Given the description of an element on the screen output the (x, y) to click on. 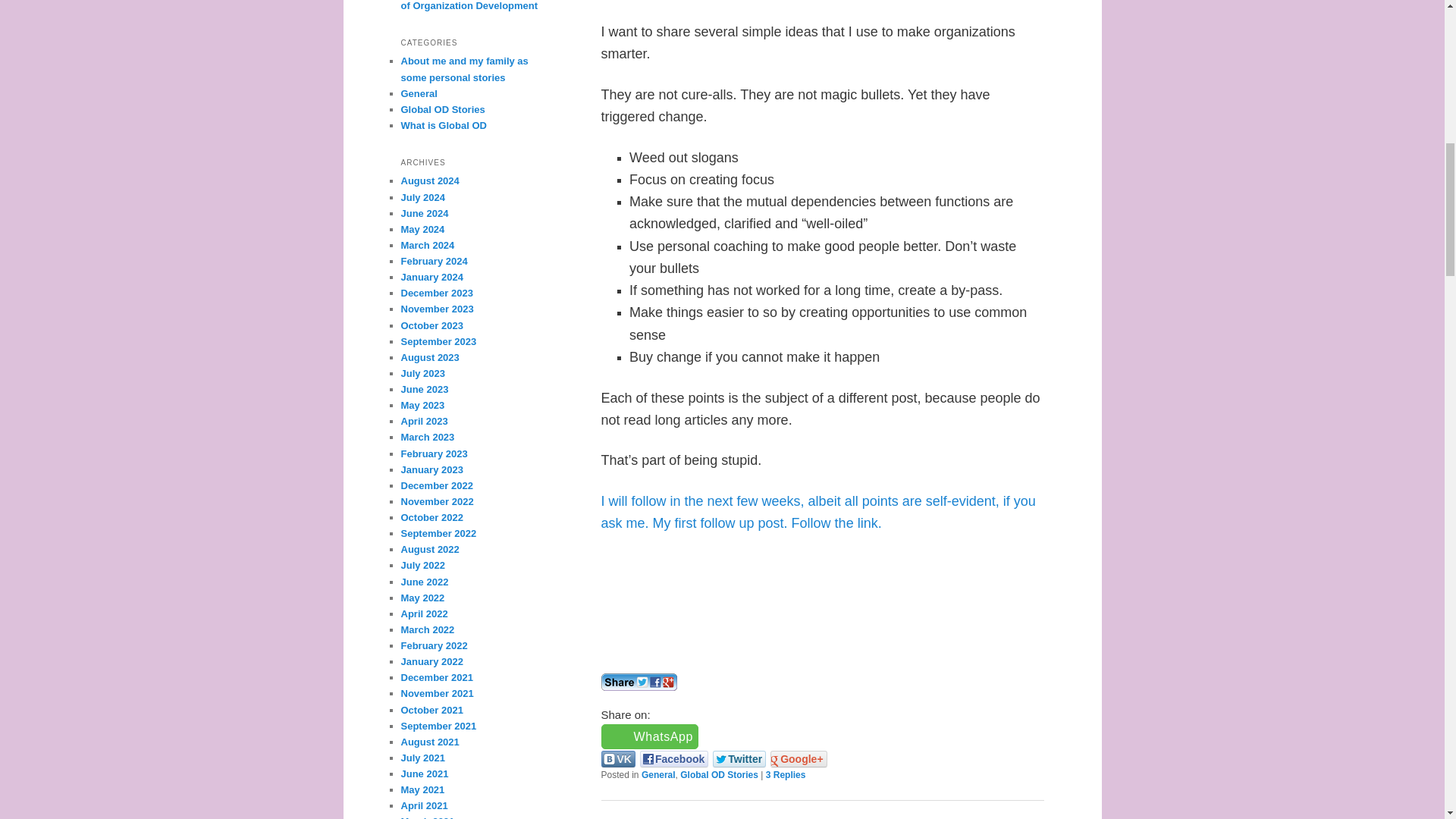
General (658, 774)
Share link on Twitter (739, 759)
Share link on VK (616, 759)
3 Replies (785, 774)
Global OD Stories (718, 774)
WhatsApp (648, 736)
Share link on Facebook (673, 759)
My first follow up post. Follow the link. (767, 522)
